Given the description of an element on the screen output the (x, y) to click on. 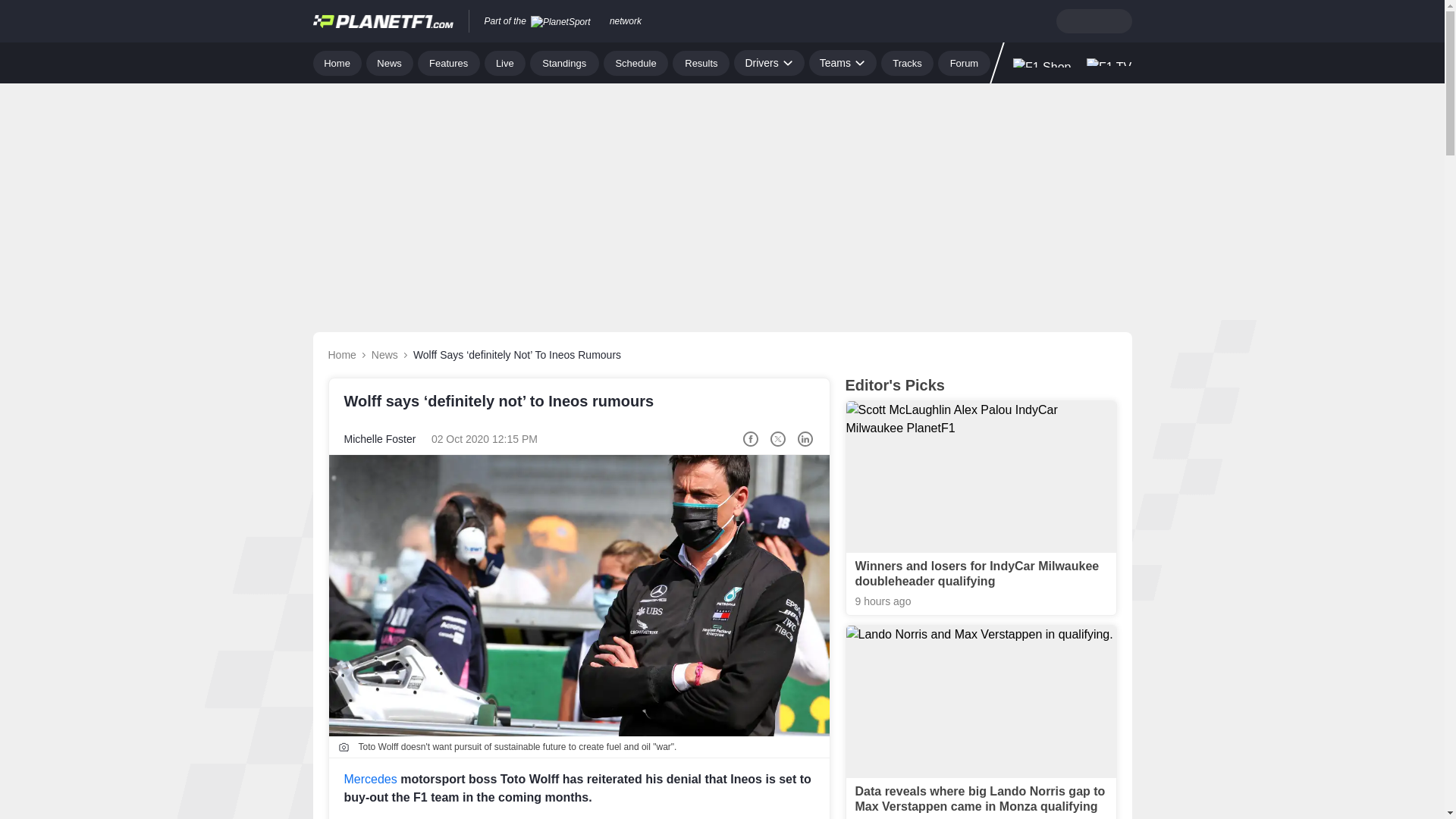
Live (504, 62)
Teams (842, 62)
Standings (563, 62)
Features (448, 62)
Results (700, 62)
Home (337, 62)
Schedule (636, 62)
News (389, 62)
Drivers (768, 62)
